Given the description of an element on the screen output the (x, y) to click on. 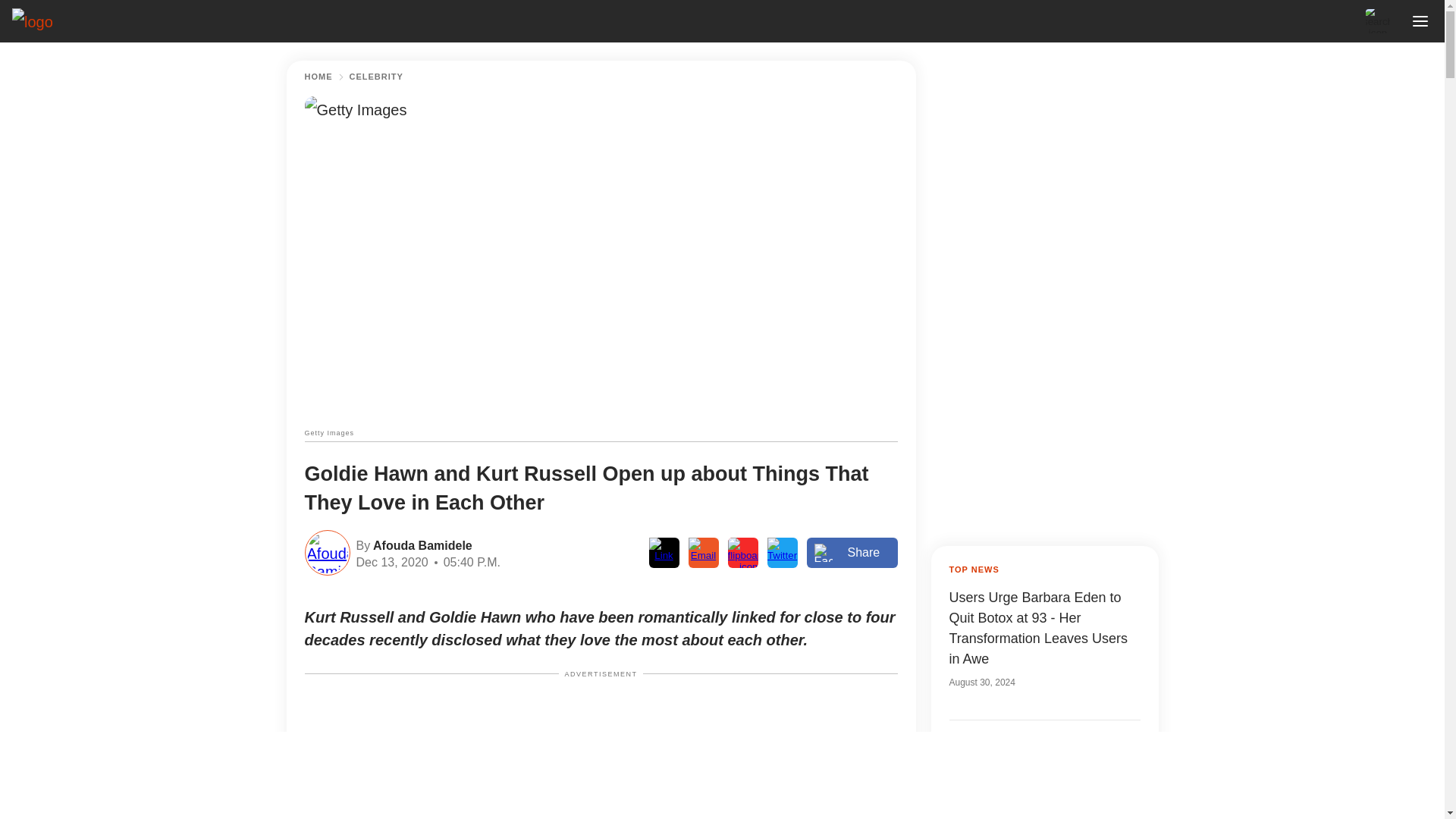
HOME (318, 76)
Afouda Bamidele (420, 544)
CELEBRITY (376, 76)
